Given the description of an element on the screen output the (x, y) to click on. 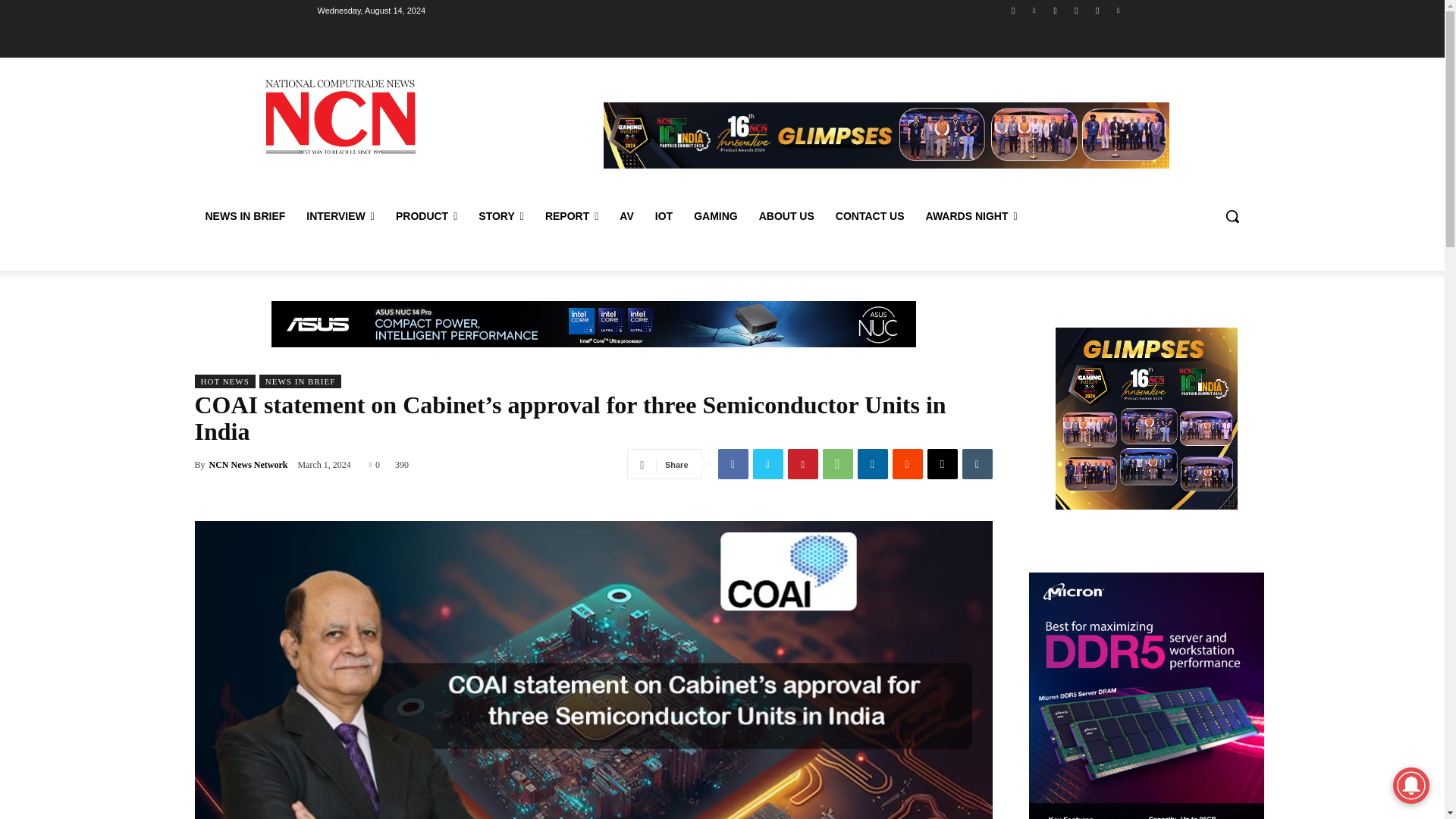
Youtube (1097, 9)
Twitter (767, 463)
ReddIt (906, 463)
Email (941, 463)
Twitter (1055, 9)
PRODUCT (426, 216)
Pinterest (1117, 9)
Facebook (1013, 9)
Linkedin (871, 463)
Facebook (732, 463)
